Given the description of an element on the screen output the (x, y) to click on. 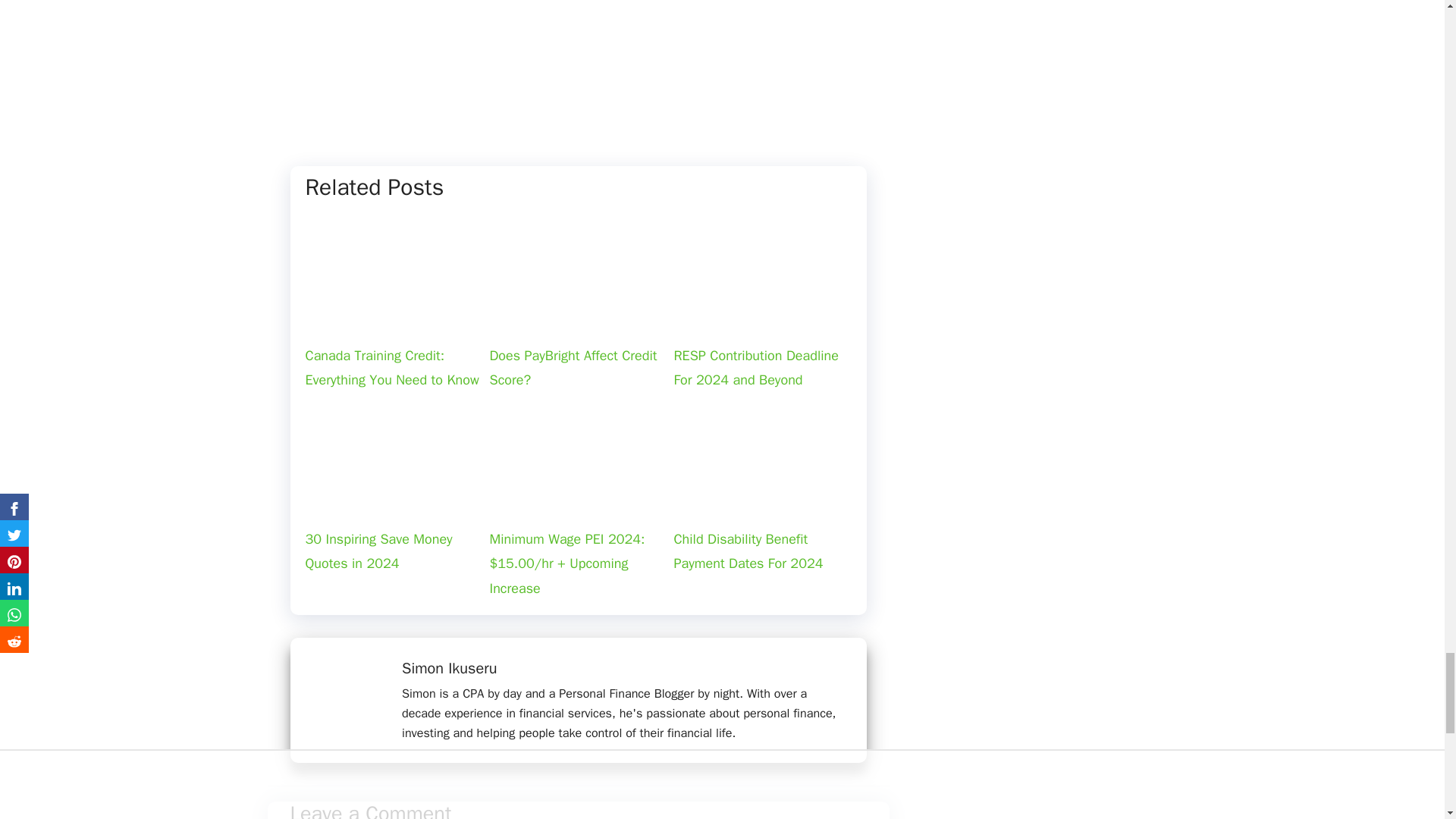
30 Inspiring Save Money Quotes in 2024 (394, 500)
Canada Training Credit: Everything You Need to Know (394, 317)
RESP Contribution Deadline For 2024 and Beyond (762, 317)
Child Disability Benefit Payment Dates For 2024 (762, 500)
